Given the description of an element on the screen output the (x, y) to click on. 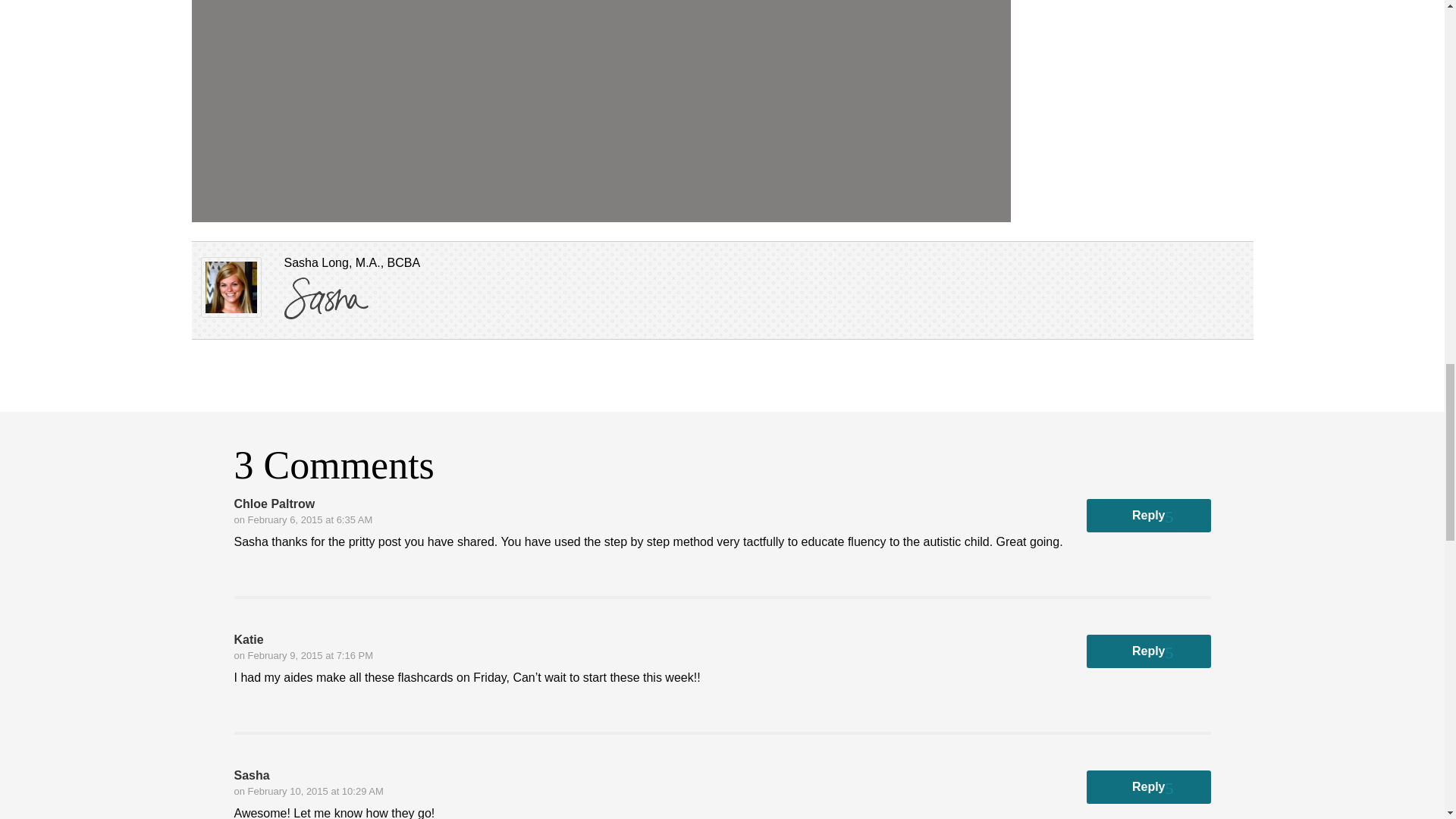
Sasha Long, M.A., BCBA (230, 290)
